Given the description of an element on the screen output the (x, y) to click on. 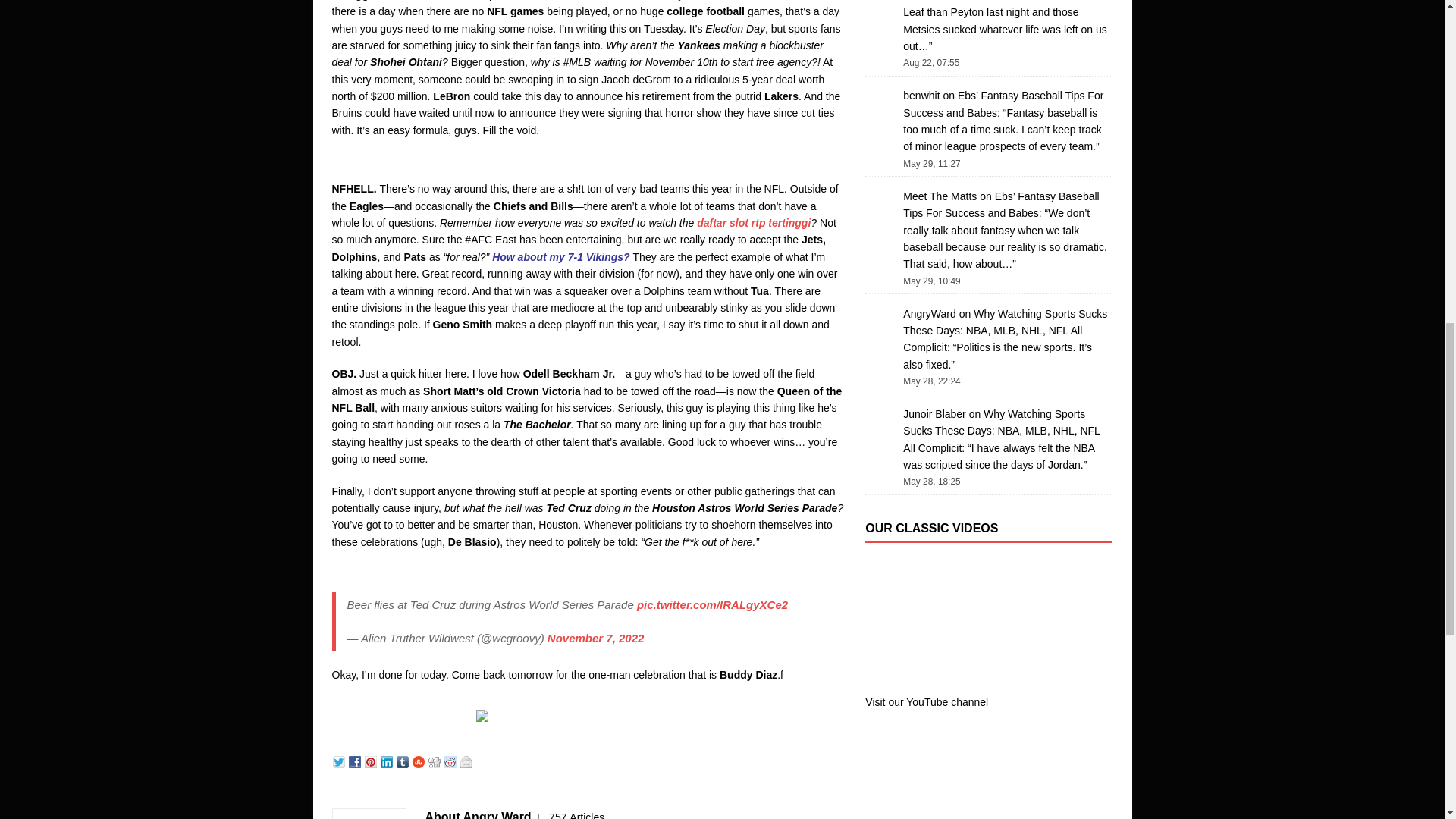
November 7, 2022 (596, 637)
Facebook (357, 760)
daftar slot rtp tertinggi (753, 223)
757 Articles (576, 815)
Print (484, 713)
Linkedin (388, 760)
Pinterest (372, 760)
Digg (436, 760)
More articles written by Angry Ward' (576, 815)
Tumblr (404, 760)
StumbleUpon (420, 760)
Twitter (339, 760)
Email (468, 760)
Reddit (452, 760)
